Given the description of an element on the screen output the (x, y) to click on. 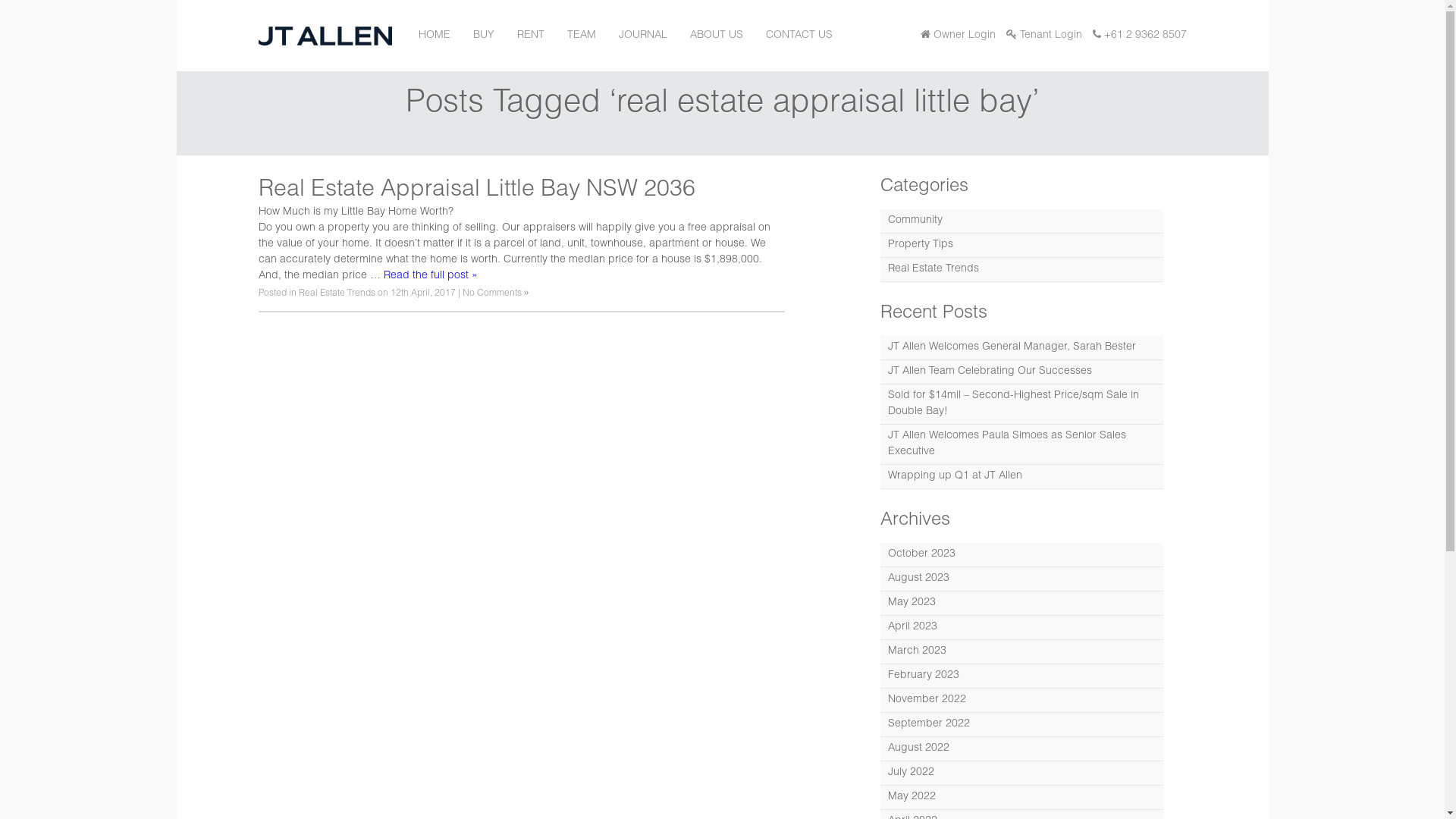
March 2023 Element type: text (1022, 651)
JT Allen Welcomes Paula Simoes as Senior Sales Executive Element type: text (1022, 444)
May 2023 Element type: text (1022, 603)
Real Estate Trends Element type: text (336, 293)
Wrapping up Q1 at JT Allen Element type: text (1022, 476)
February 2023 Element type: text (1022, 675)
Community Element type: text (1022, 220)
BUY Element type: text (483, 35)
May 2022 Element type: text (1022, 797)
TEAM Element type: text (581, 35)
November 2022 Element type: text (1022, 700)
HOME Element type: text (434, 35)
July 2022 Element type: text (1022, 772)
JOURNAL Element type: text (643, 35)
April 2023 Element type: text (1022, 627)
August 2023 Element type: text (1022, 578)
Real Estate Trends Element type: text (1022, 269)
+61 2 9362 8507 Element type: text (1139, 35)
Property Tips Element type: text (1022, 245)
Real Estate Appraisal Little Bay NSW 2036 Element type: text (475, 190)
Owner Login Element type: text (957, 35)
Tenant Login Element type: text (1043, 35)
JT Allen Team Celebrating Our Successes Element type: text (1022, 371)
JT Allen Welcomes General Manager, Sarah Bester Element type: text (1022, 347)
CONTACT US Element type: text (799, 35)
August 2022 Element type: text (1022, 748)
RENT Element type: text (530, 35)
October 2023 Element type: text (1022, 554)
September 2022 Element type: text (1022, 724)
ABOUT US Element type: text (716, 35)
